Given the description of an element on the screen output the (x, y) to click on. 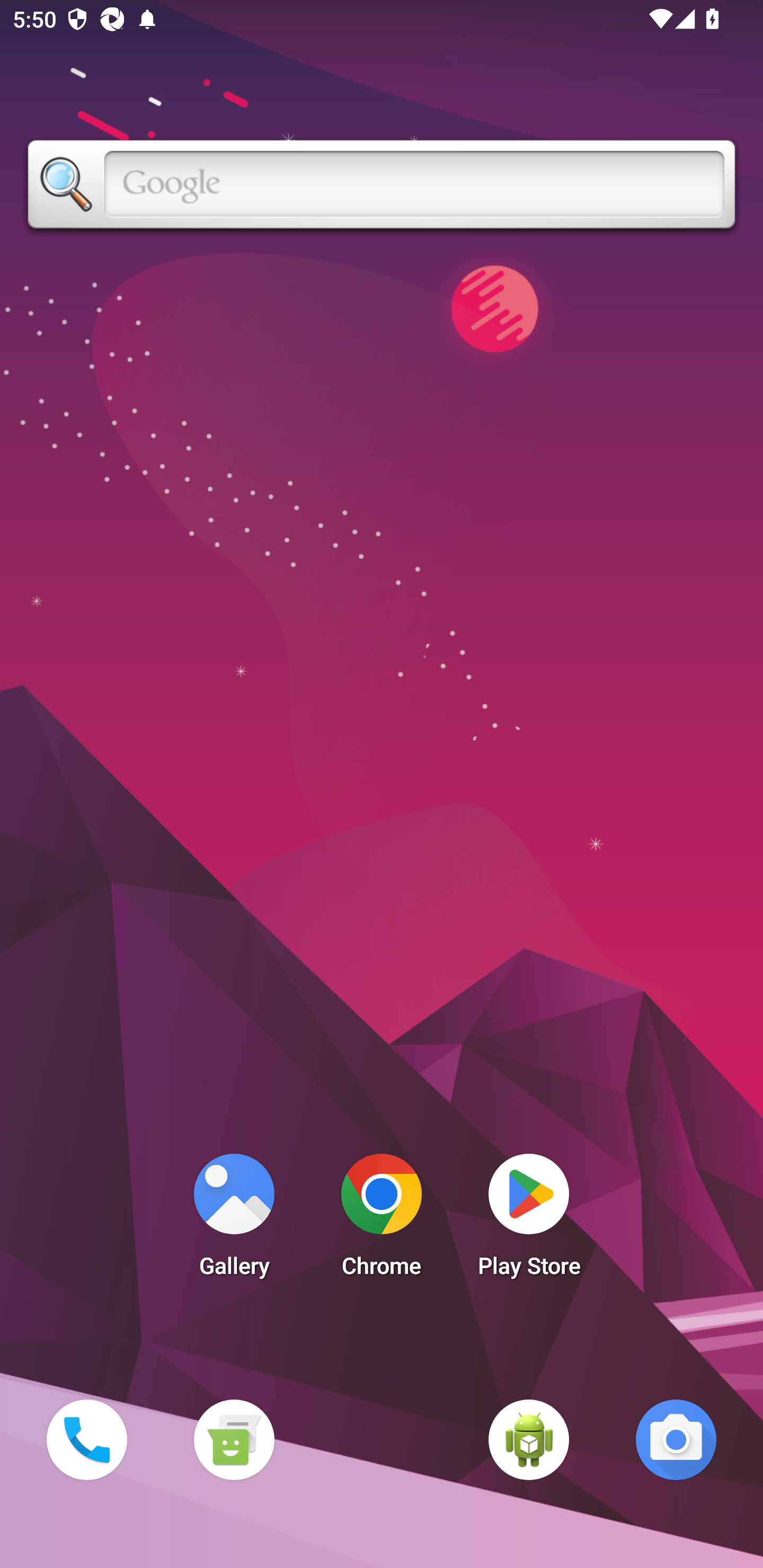
Gallery (233, 1220)
Chrome (381, 1220)
Play Store (528, 1220)
Phone (86, 1439)
Messaging (233, 1439)
WebView Browser Tester (528, 1439)
Camera (676, 1439)
